Given the description of an element on the screen output the (x, y) to click on. 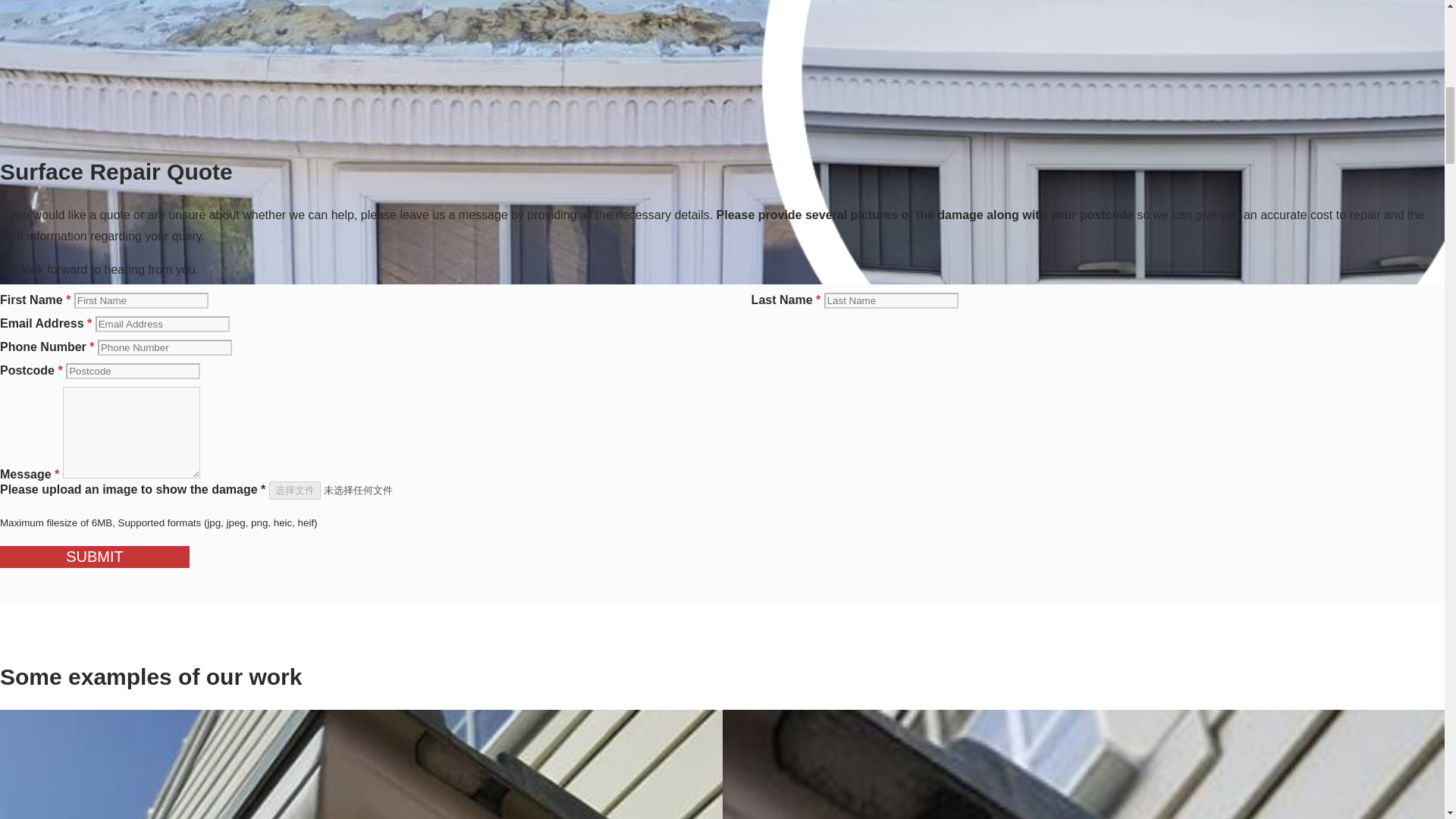
SUBMIT (94, 557)
